Given the description of an element on the screen output the (x, y) to click on. 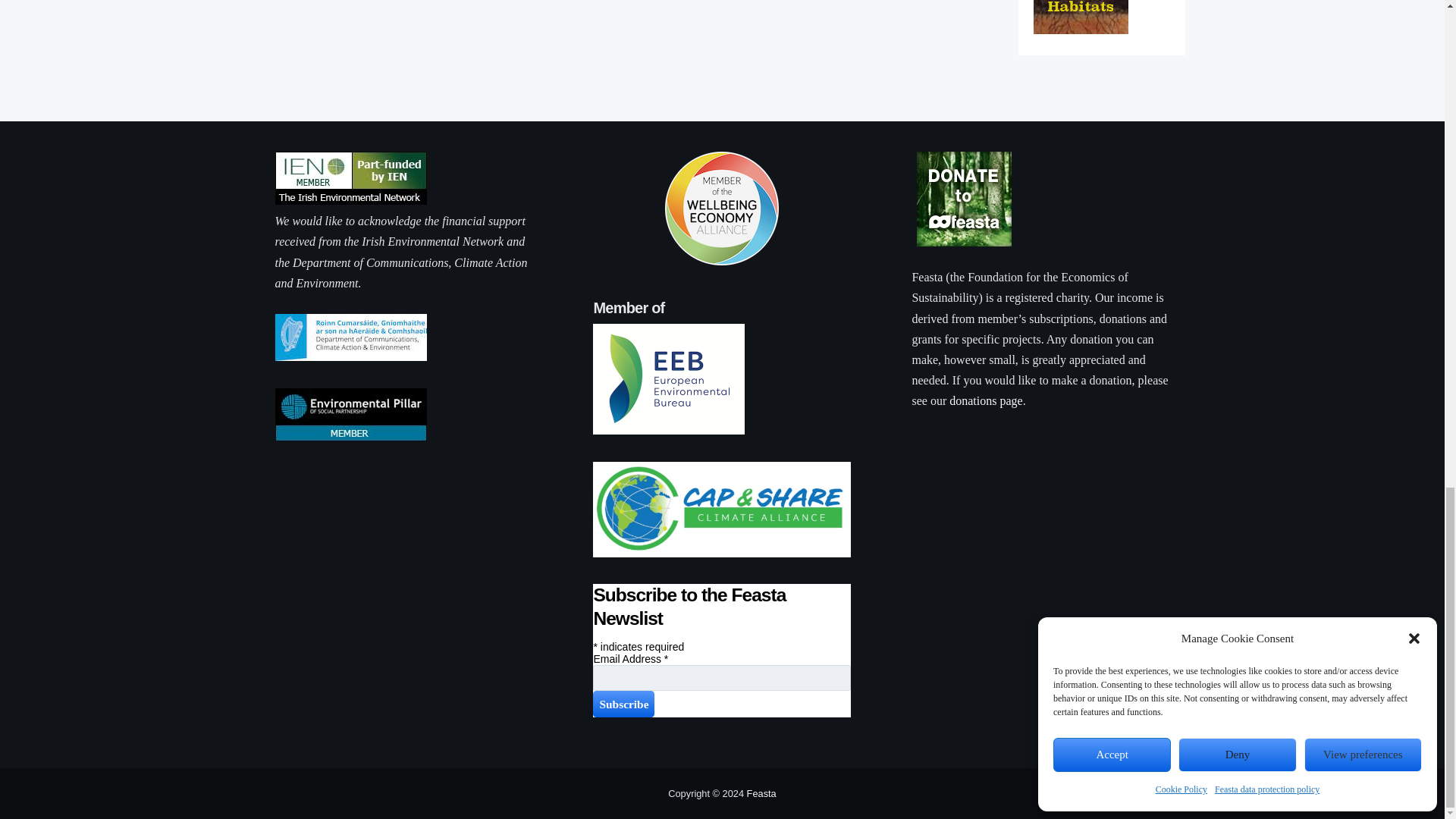
Subscribe (622, 704)
